Given the description of an element on the screen output the (x, y) to click on. 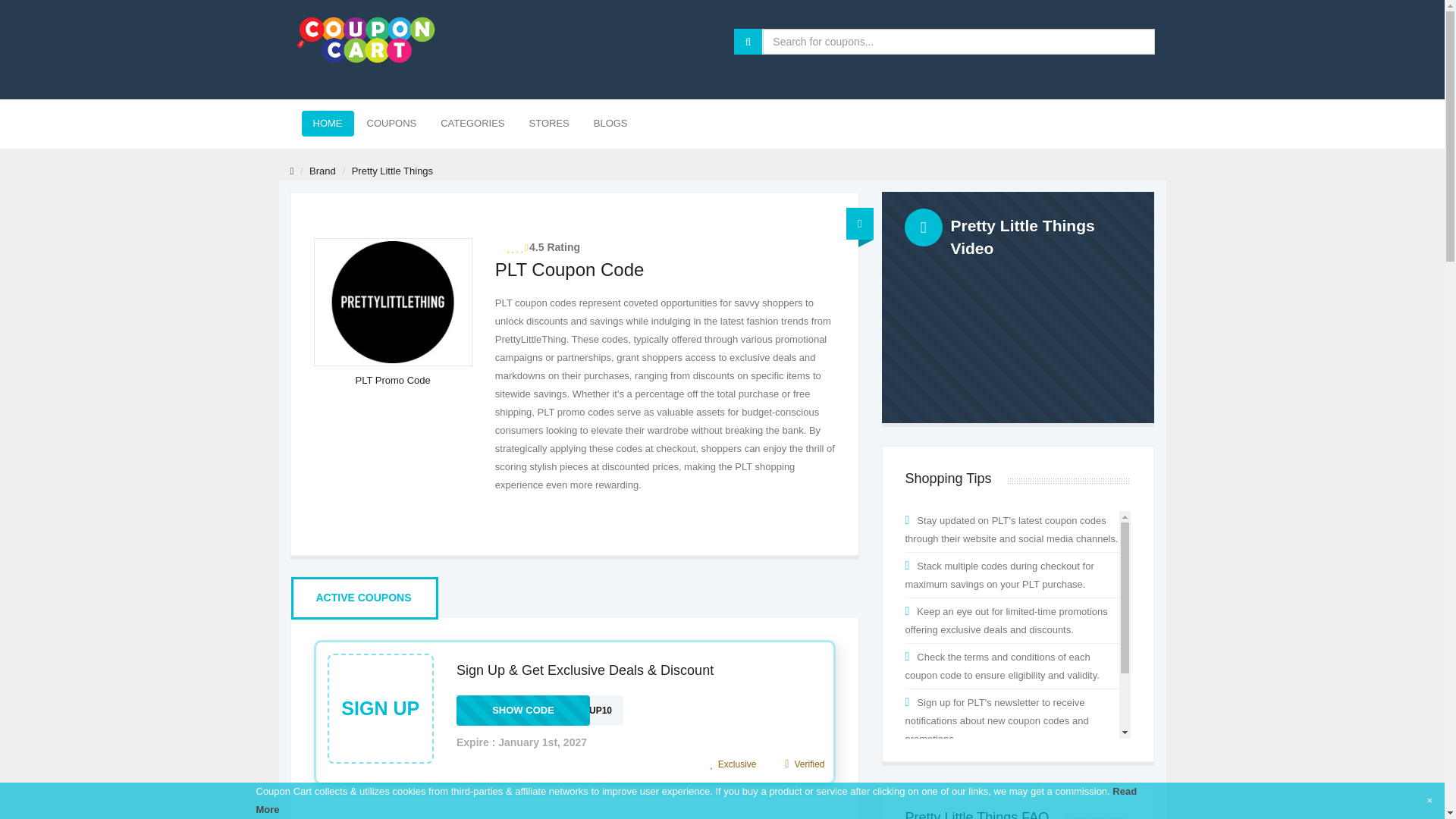
ACTIVE COUPONS (362, 598)
COUPONS (391, 123)
BLOGS (610, 123)
HOME (327, 123)
Pretty Little Things Video (1017, 307)
Coupon Cart (365, 39)
Brand (322, 170)
STORES (549, 123)
Pretty Little Things (540, 710)
